Given the description of an element on the screen output the (x, y) to click on. 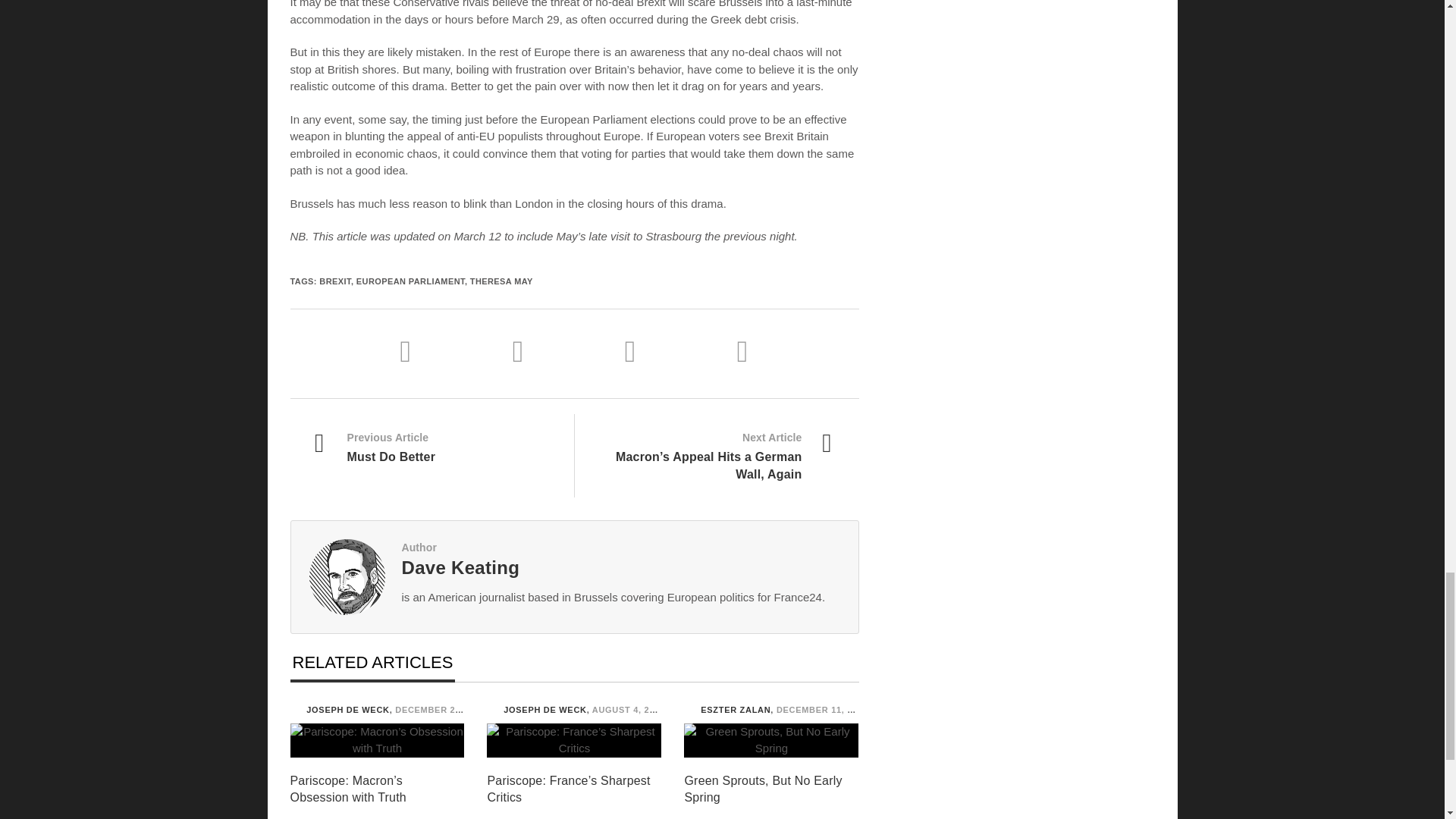
Joseph de Weck (491, 708)
Share on Facebook (442, 350)
EUROPEAN PARLIAMENT (410, 280)
BREXIT (334, 280)
Share on Twitter (555, 350)
Share on Pinterest (743, 350)
Joseph de Weck (294, 708)
THERESA MAY (501, 280)
